Given the description of an element on the screen output the (x, y) to click on. 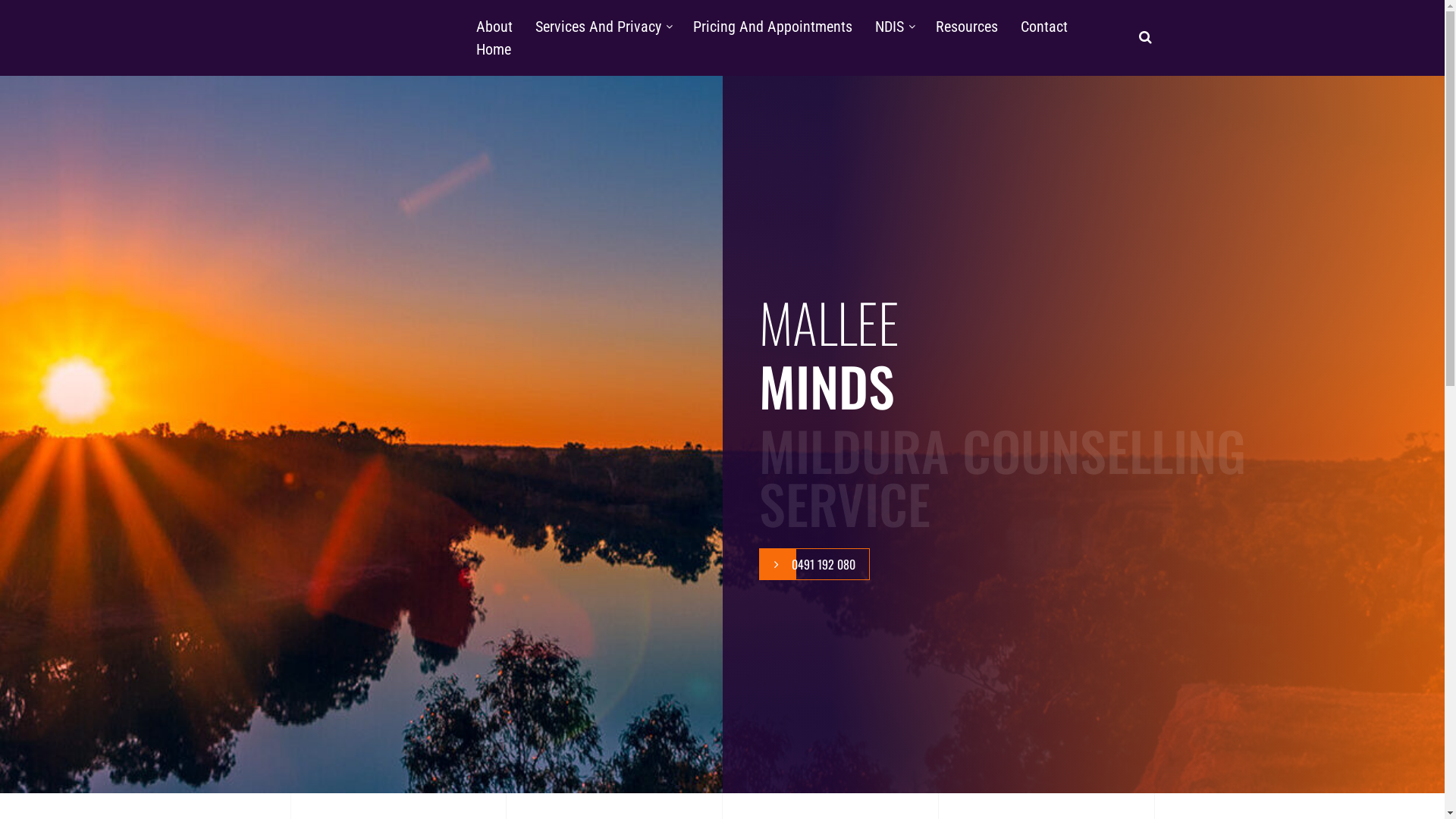
Home Element type: text (493, 48)
Services And Privacy Element type: text (598, 26)
Contact Element type: text (1043, 26)
Pricing And Appointments Element type: text (772, 26)
About Element type: text (494, 26)
NDIS Element type: text (889, 26)
Resources Element type: text (966, 26)
0491 192 080 Element type: text (813, 564)
MALLEE MINDS Element type: text (365, 88)
Search Element type: text (32, 15)
